Given the description of an element on the screen output the (x, y) to click on. 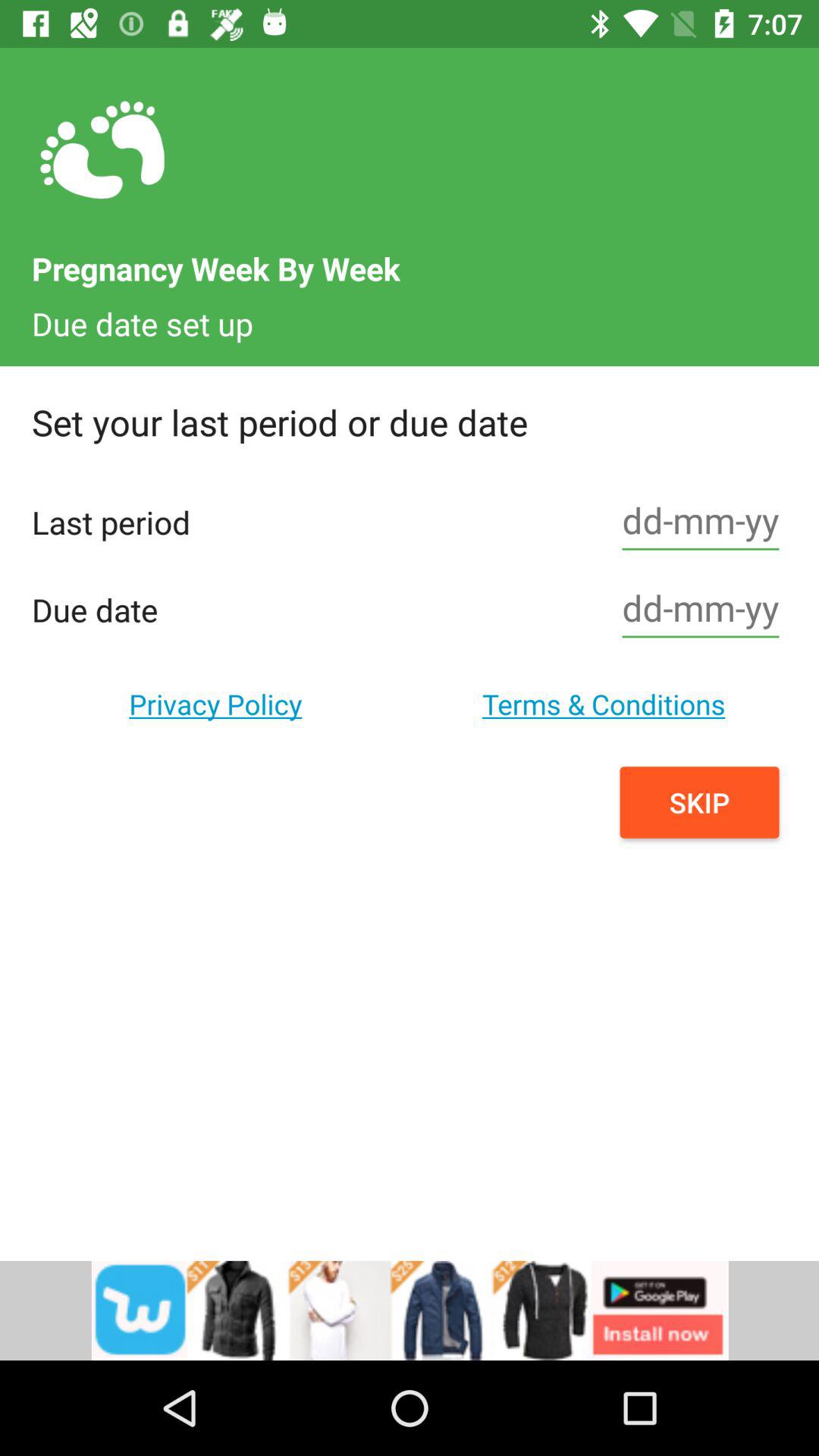
go to advertisement (409, 1310)
